Given the description of an element on the screen output the (x, y) to click on. 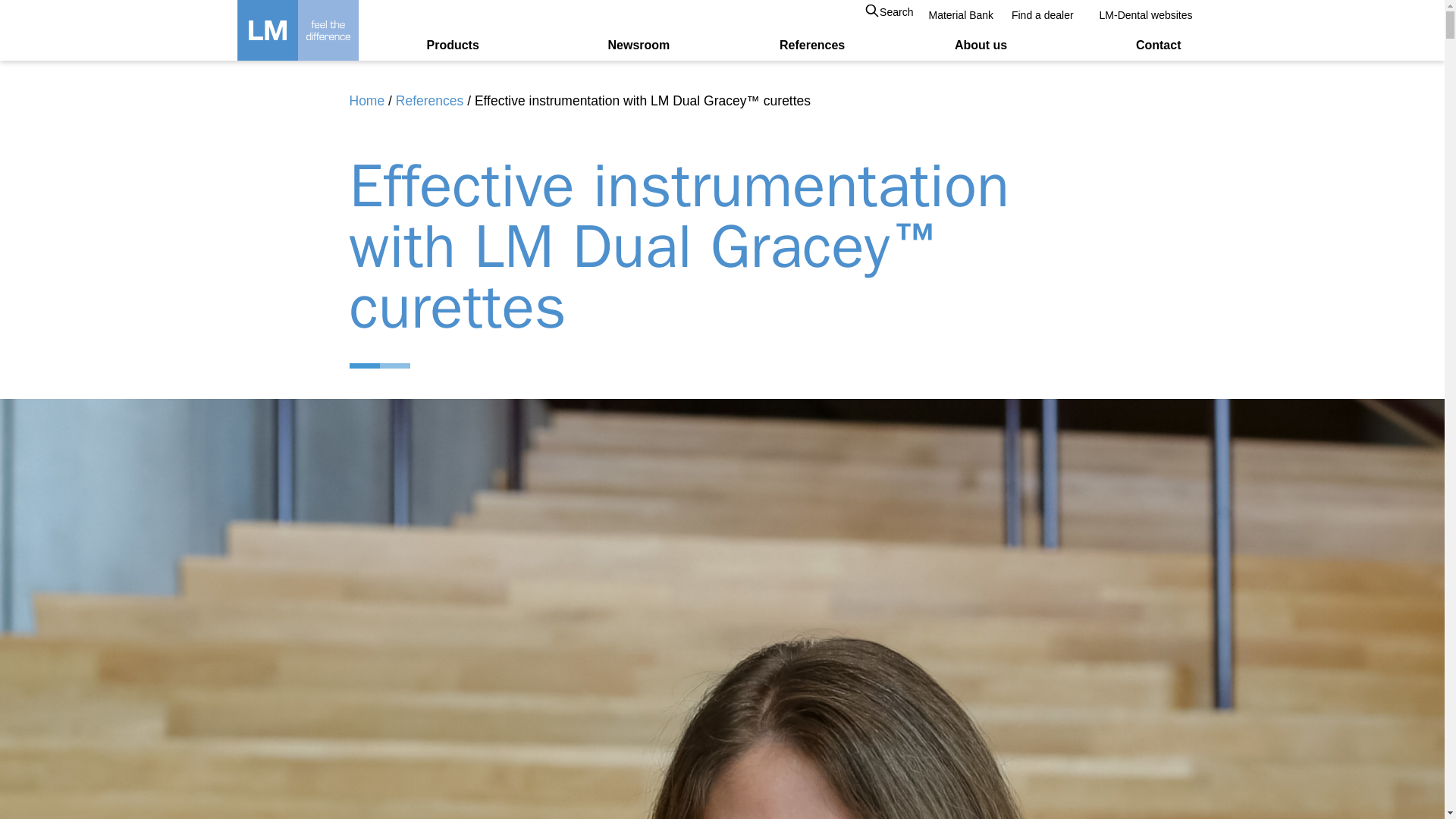
LM-Dental websites (1142, 15)
Submenu: Products (490, 45)
Products (452, 45)
Material Bank (960, 15)
References (811, 45)
Submenu: About us (1018, 45)
Contact (1157, 45)
Search (888, 12)
Find a dealer (1042, 15)
Newsroom (638, 45)
